Given the description of an element on the screen output the (x, y) to click on. 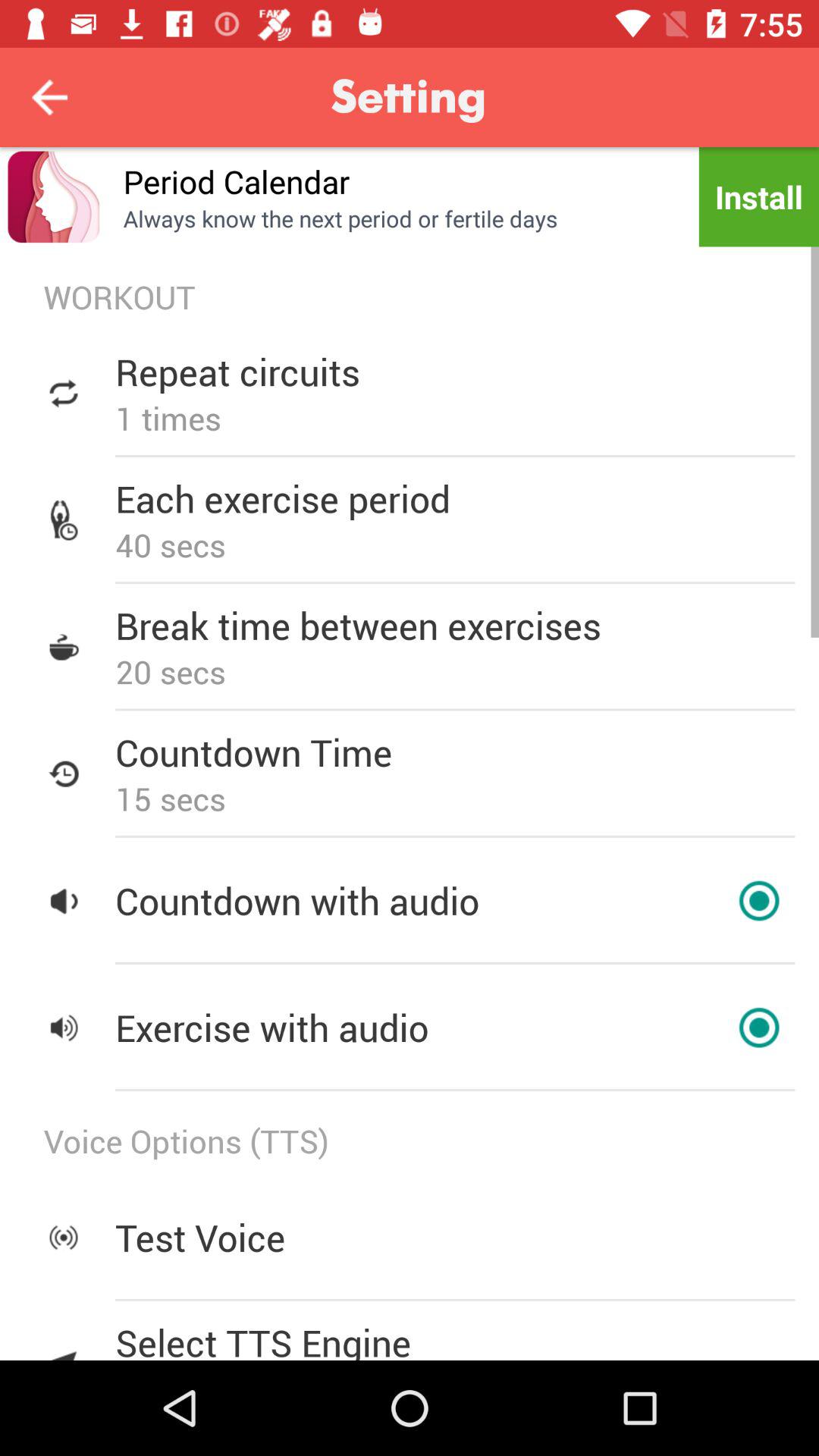
go back (49, 97)
